Given the description of an element on the screen output the (x, y) to click on. 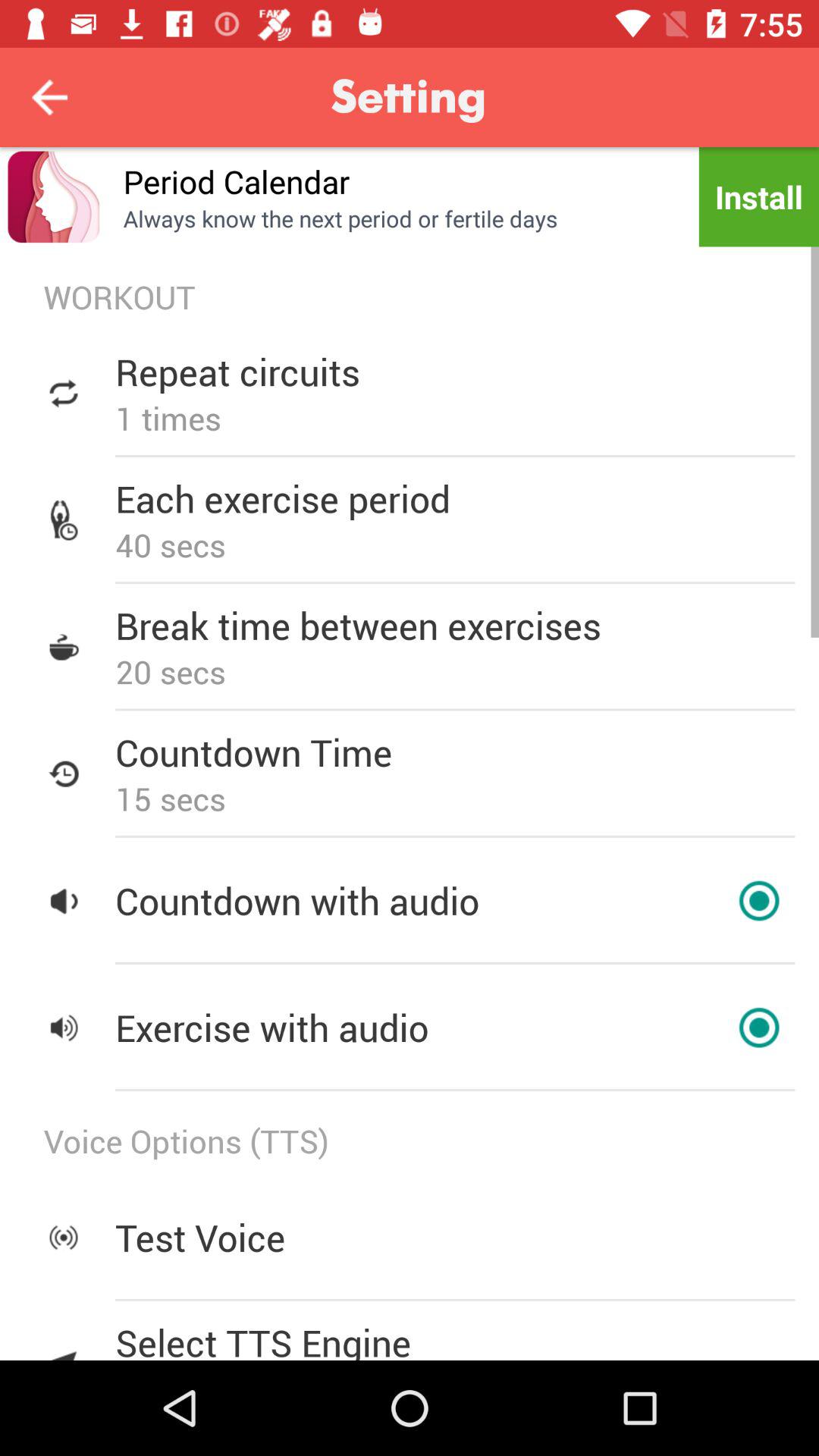
go back (49, 97)
